Given the description of an element on the screen output the (x, y) to click on. 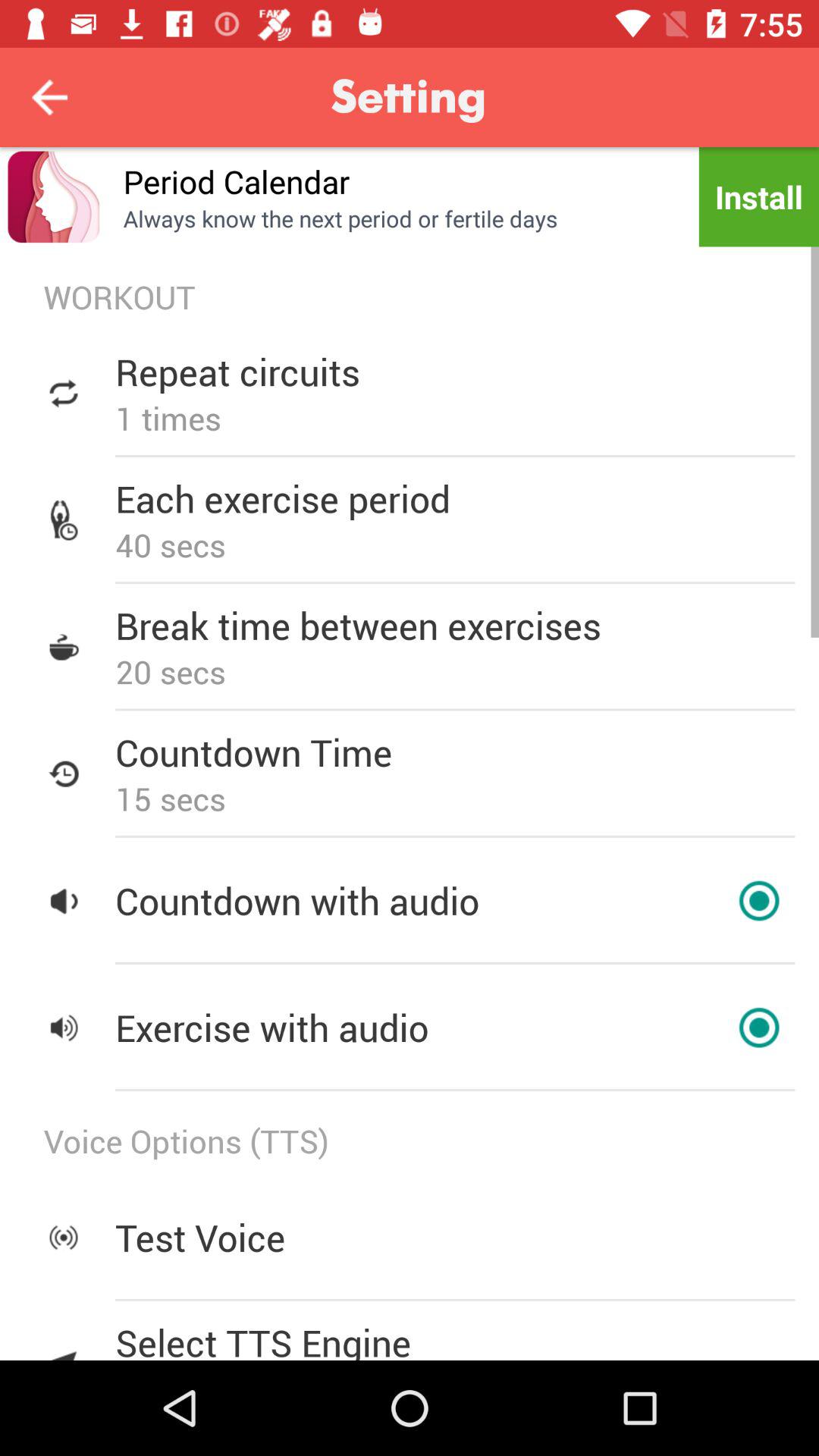
go back (49, 97)
